Given the description of an element on the screen output the (x, y) to click on. 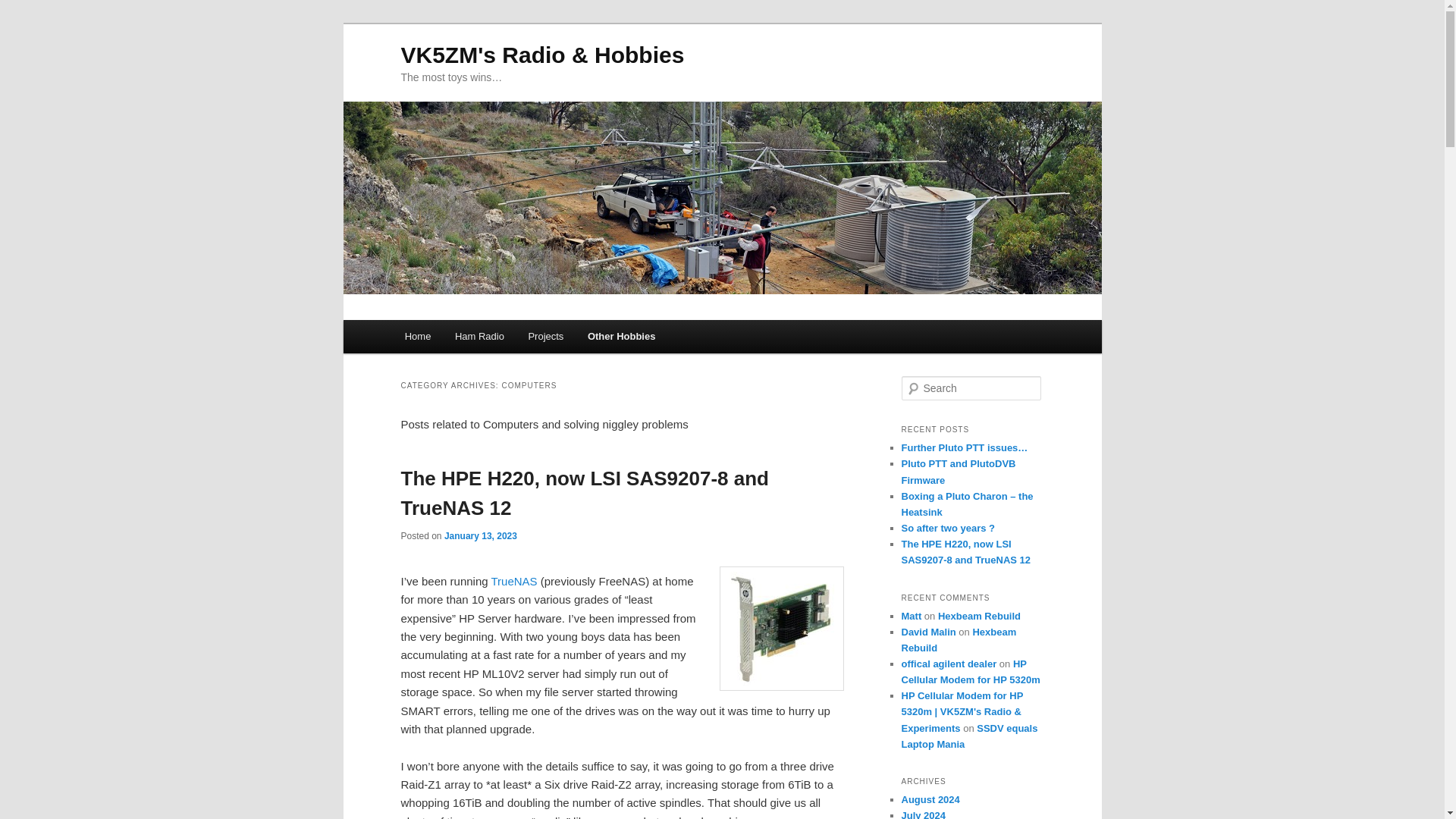
Other Hobbies (620, 336)
Projects (545, 336)
8:00 pm (480, 535)
January 13, 2023 (480, 535)
TrueNAS (515, 581)
Ham Radio (479, 336)
Home (417, 336)
The HPE H220, now LSI SAS9207-8 and TrueNAS 12 (584, 492)
